Given the description of an element on the screen output the (x, y) to click on. 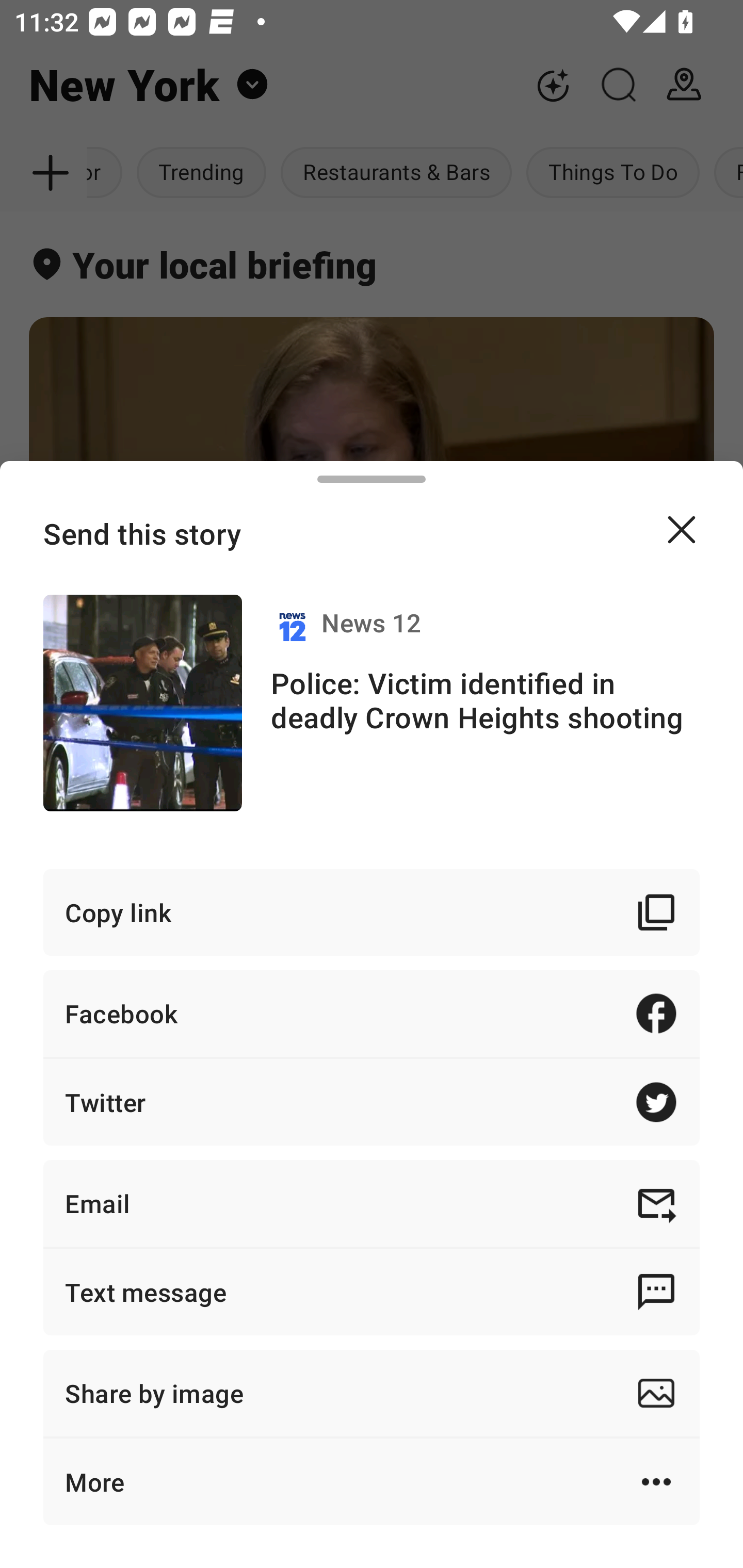
Copy link (371, 912)
Facebook (371, 1013)
Twitter (371, 1102)
Email (371, 1203)
Text message (371, 1291)
Share by image (371, 1393)
More (371, 1481)
